Given the description of an element on the screen output the (x, y) to click on. 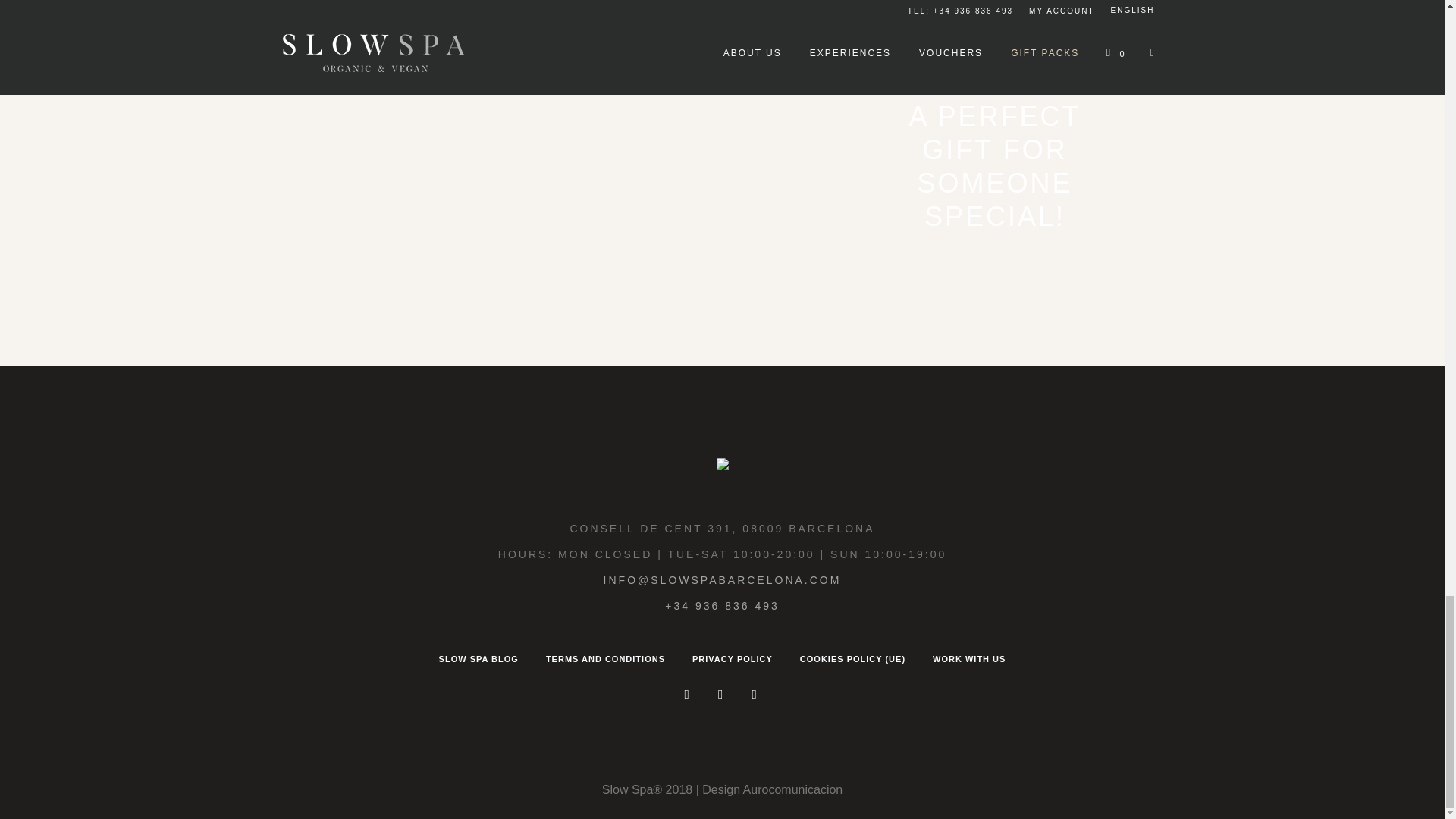
Slow Spa Barcelona (722, 467)
Instagram (686, 694)
TripAdvisor (753, 694)
Facebook (720, 694)
